Given the description of an element on the screen output the (x, y) to click on. 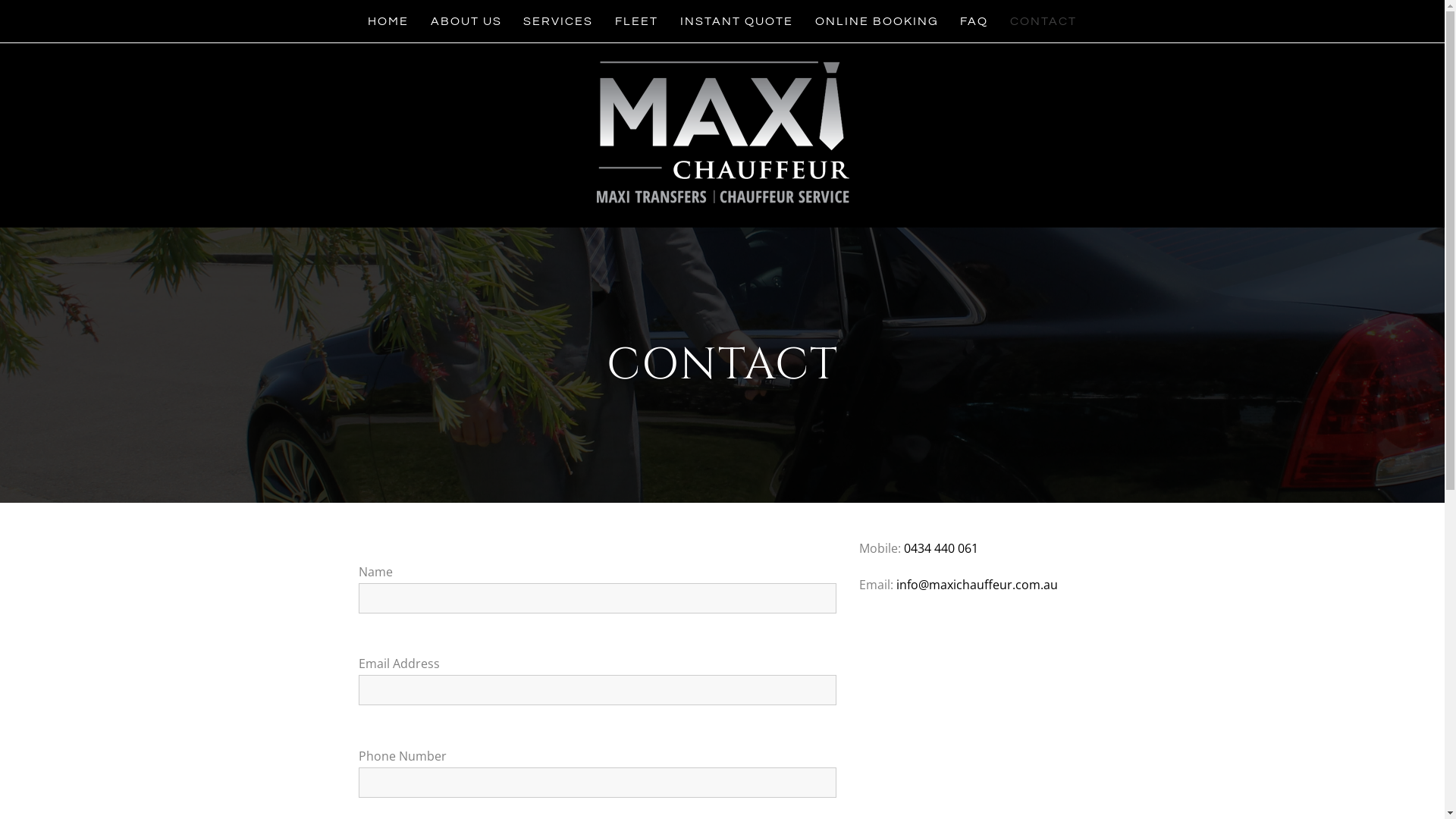
INSTANT QUOTE Element type: text (736, 21)
CONTACT Element type: text (1043, 21)
info@maxichauffeur.com.au Element type: text (976, 584)
FAQ Element type: text (974, 21)
ABOUT US Element type: text (466, 21)
ONLINE BOOKING Element type: text (876, 21)
0434 440 061 Element type: text (940, 547)
Return to homepage Element type: hover (721, 131)
SERVICES Element type: text (558, 21)
HOME Element type: text (387, 21)
FLEET Element type: text (636, 21)
